Given the description of an element on the screen output the (x, y) to click on. 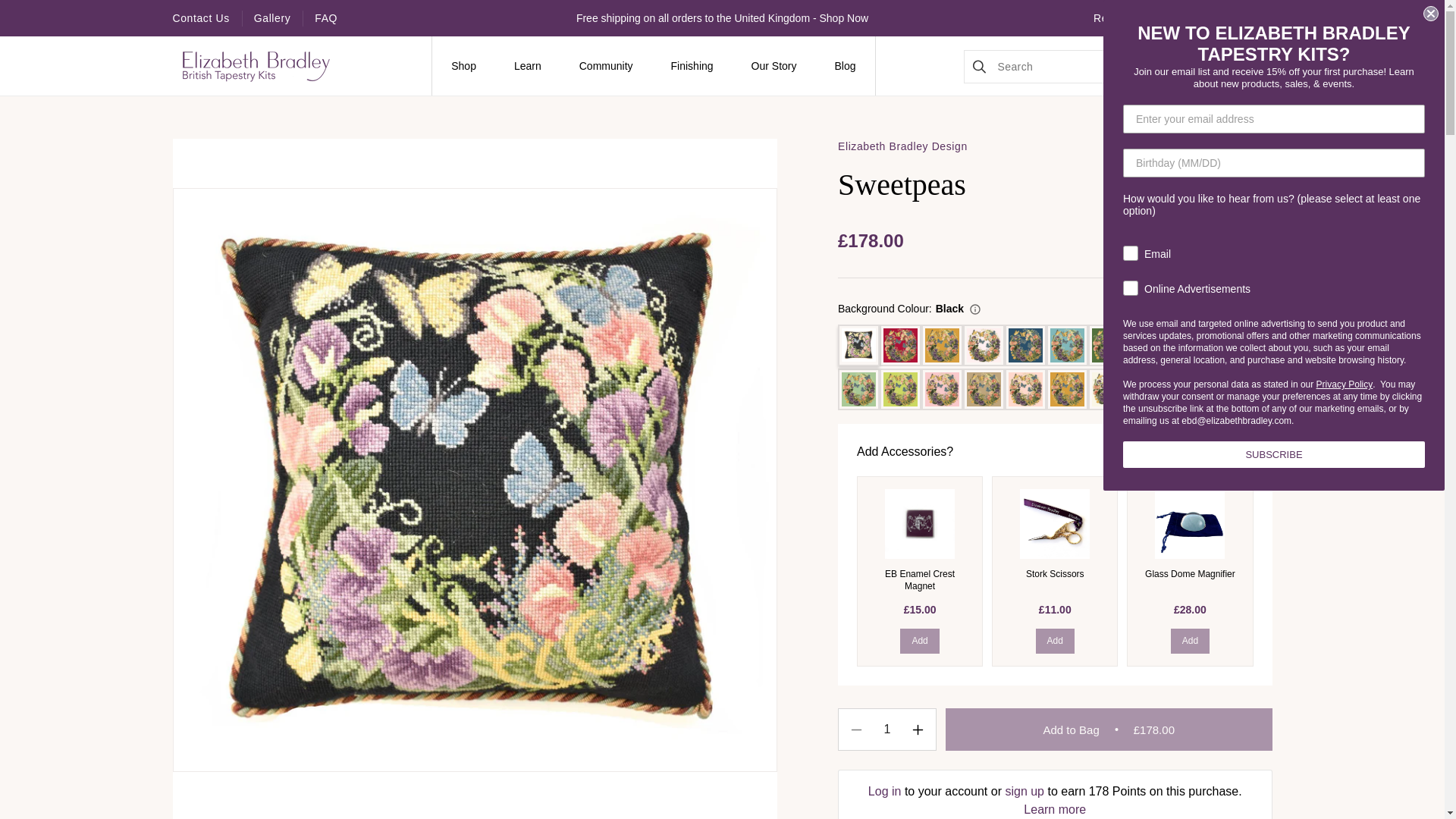
FAQ (325, 18)
Skip to content (10, 10)
Gallery (272, 18)
Global (1204, 17)
Rewards (1115, 18)
